Given the description of an element on the screen output the (x, y) to click on. 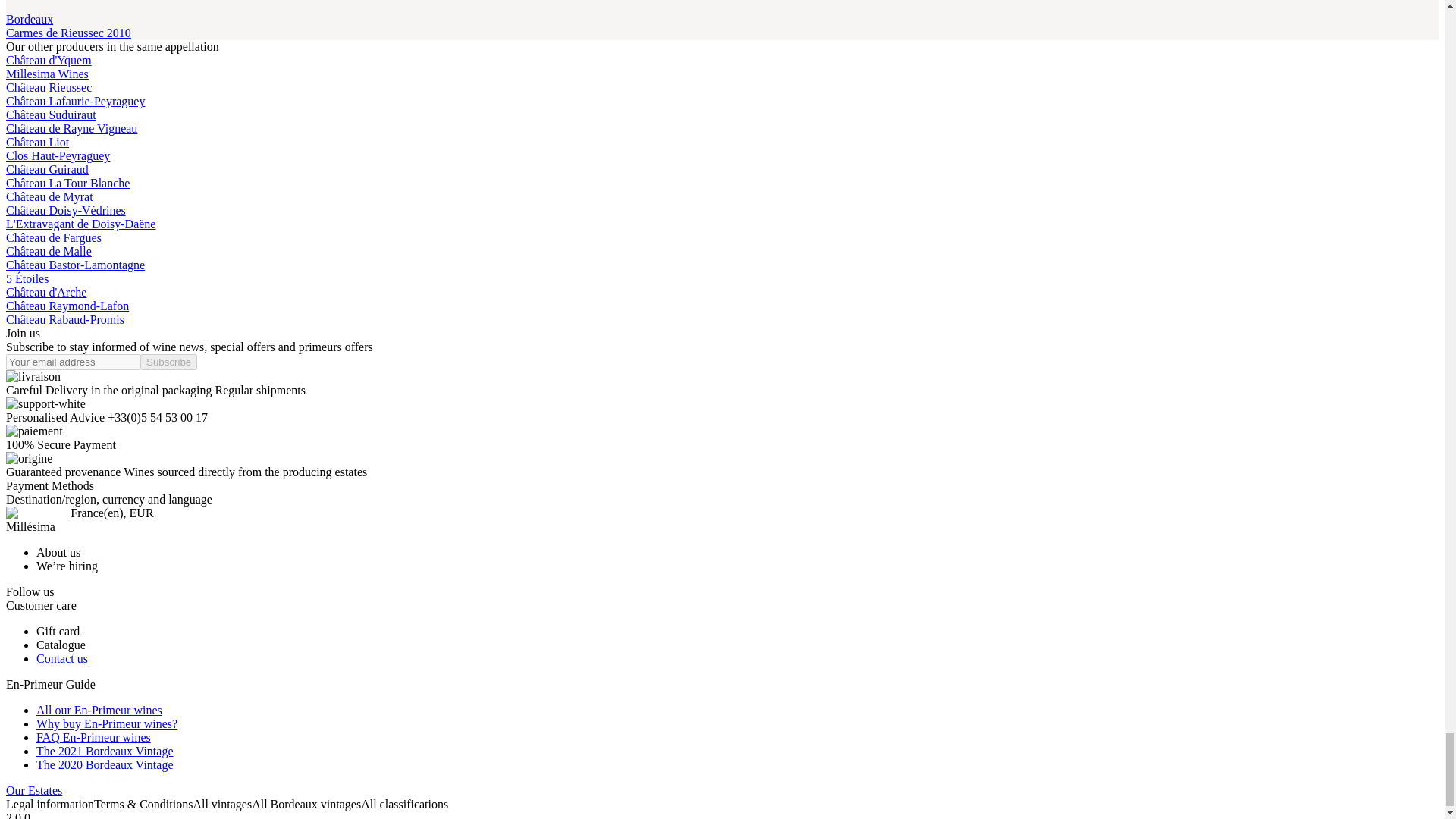
E-mail (72, 361)
